Given the description of an element on the screen output the (x, y) to click on. 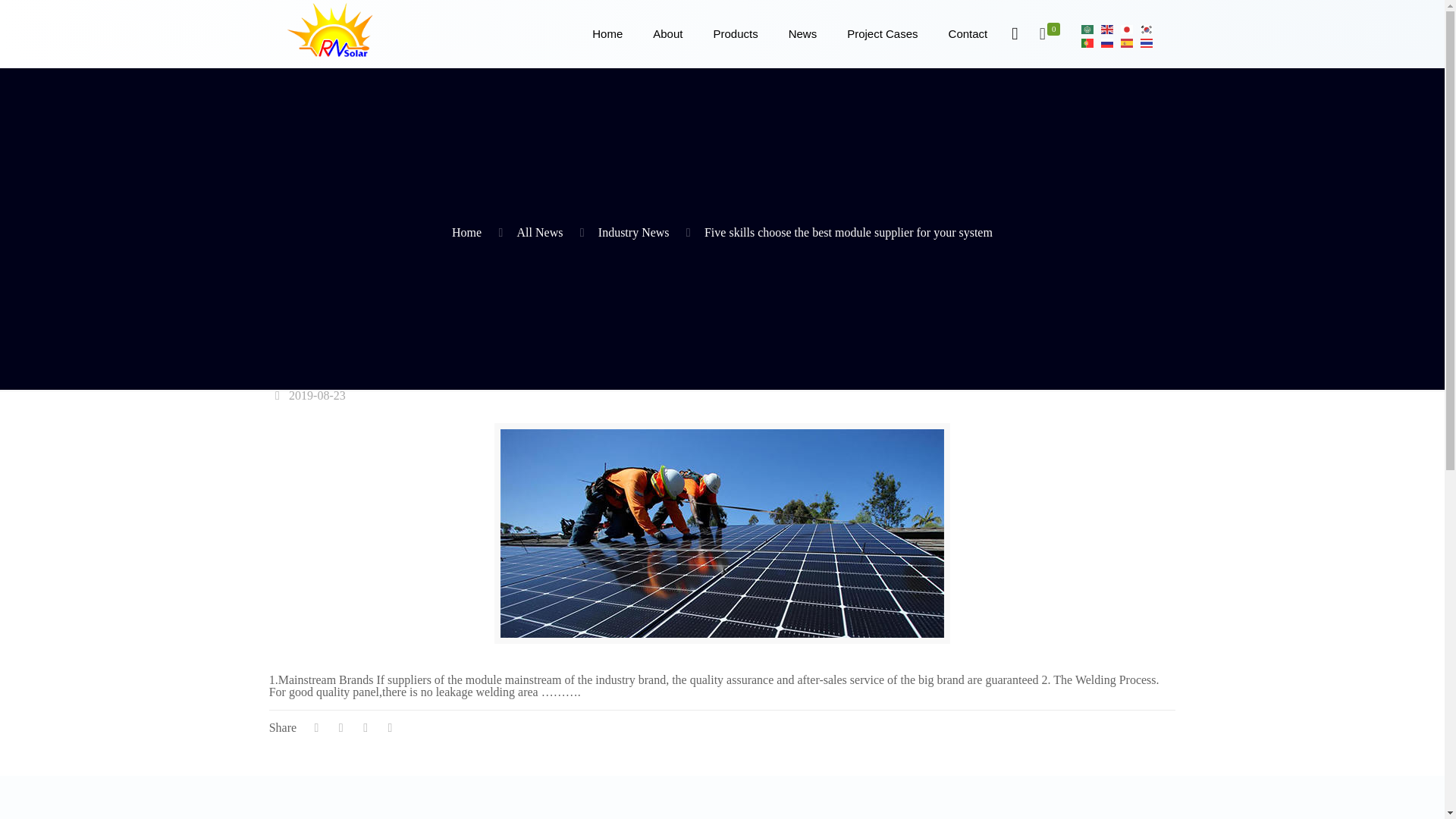
Portuguese (1087, 41)
Spanish (1127, 41)
Home (606, 33)
solar mounting solutions (735, 33)
Thai (1147, 41)
Arabic (1087, 28)
Russian (1107, 41)
Korean (1147, 28)
Japanese (1127, 28)
Xiamen RiNeng Solar Energy Technology Co.LTD (340, 29)
